Given the description of an element on the screen output the (x, y) to click on. 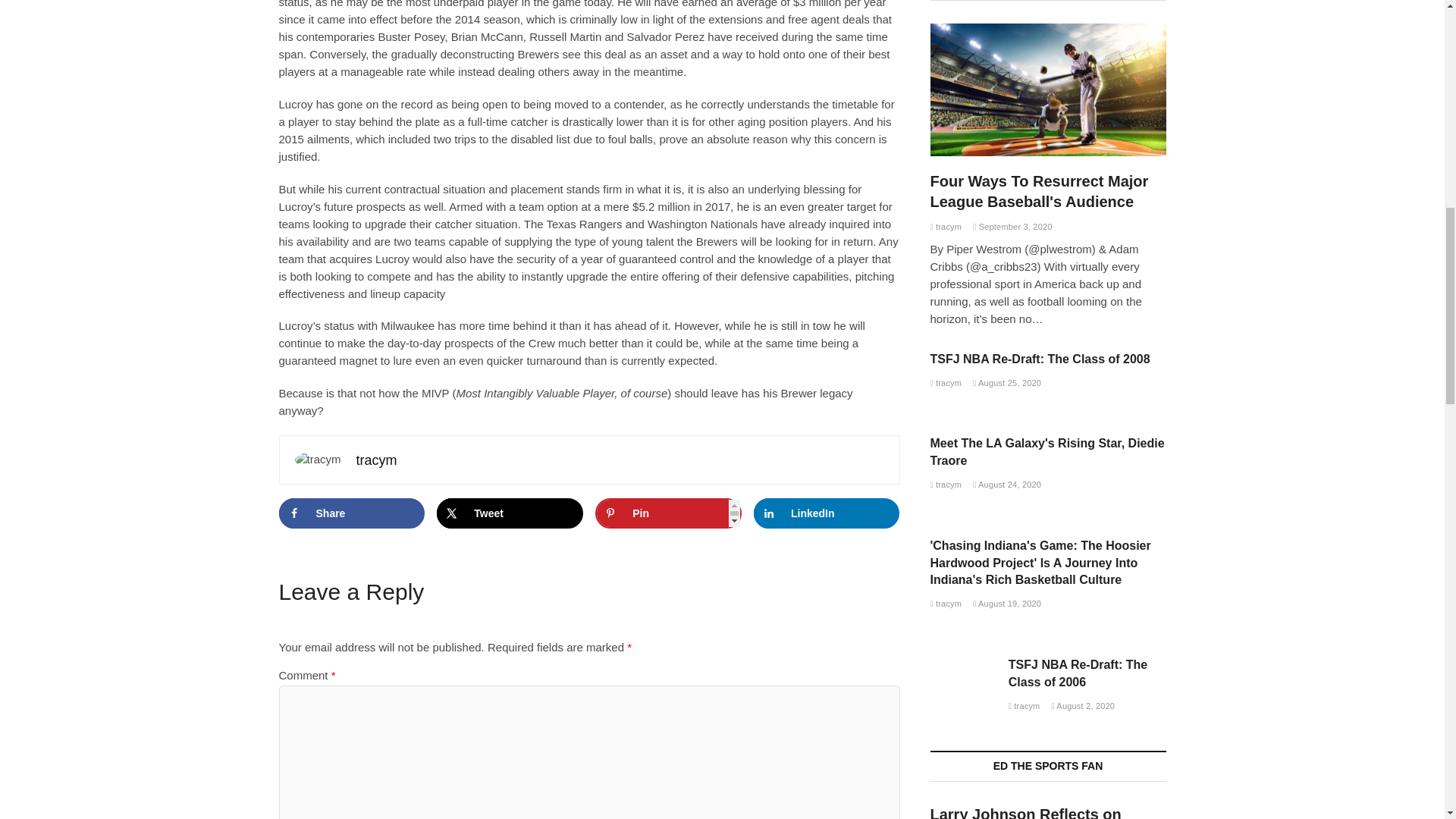
Share on LinkedIn (826, 512)
Share on X (509, 512)
Four Ways To Resurrect Major League Baseball's Audience (1048, 89)
Save to Pinterest (668, 512)
September 3, 2020 (1011, 225)
TSFJ NBA Re-Draft: The Class of 2008 (1040, 358)
TSFJ NBA Re-Draft: The Class of 2008 (945, 382)
Four Ways To Resurrect Major League Baseball's Audience (1039, 190)
Share on Facebook (352, 512)
Four Ways To Resurrect Major League Baseball's Audience (945, 225)
